Given the description of an element on the screen output the (x, y) to click on. 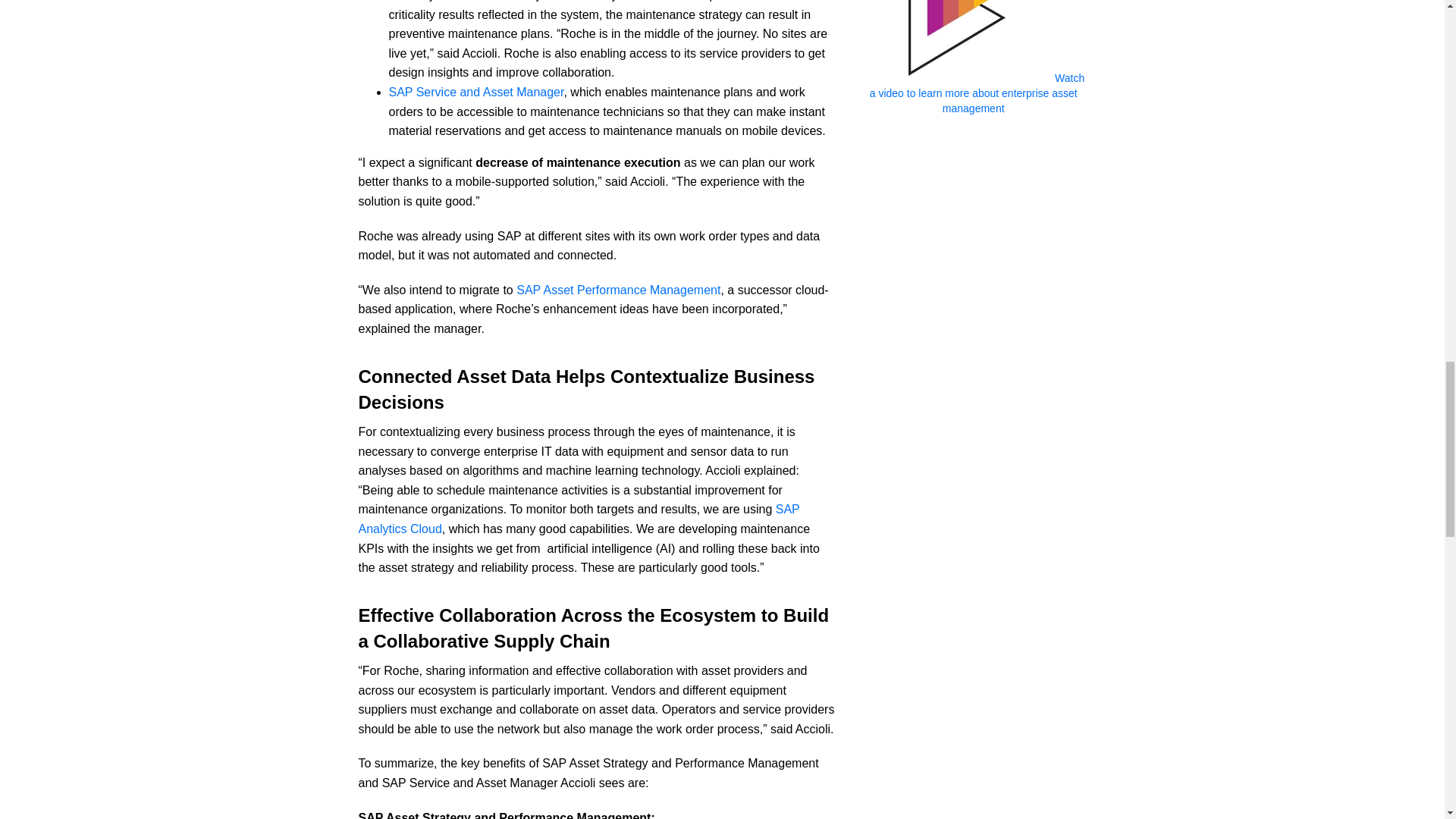
SAP Service and Asset Manager (475, 91)
SAP Analytics Cloud (578, 518)
SAP Asset Performance Management (618, 289)
